Given the description of an element on the screen output the (x, y) to click on. 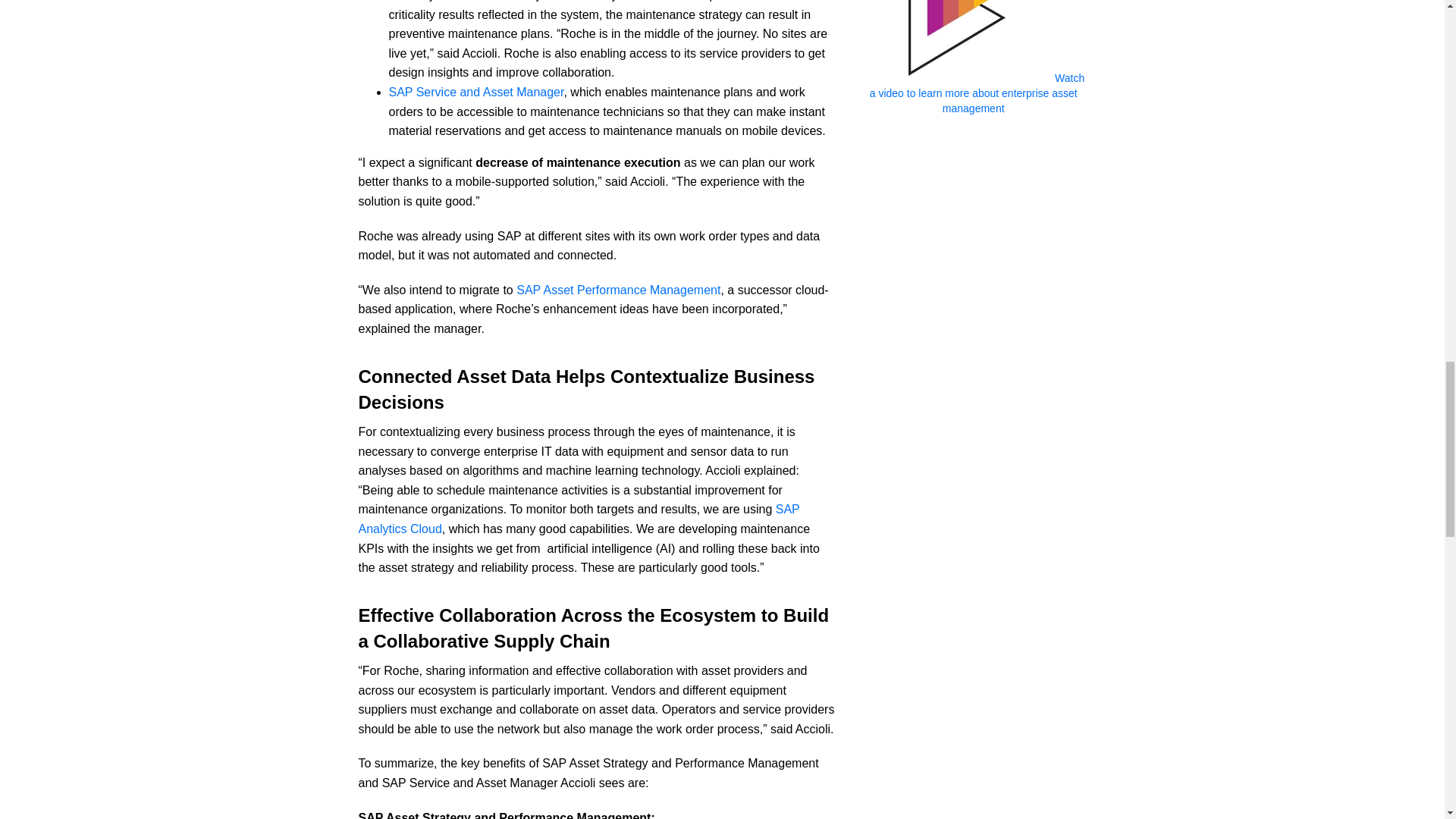
SAP Service and Asset Manager (475, 91)
SAP Analytics Cloud (578, 518)
SAP Asset Performance Management (618, 289)
